Given the description of an element on the screen output the (x, y) to click on. 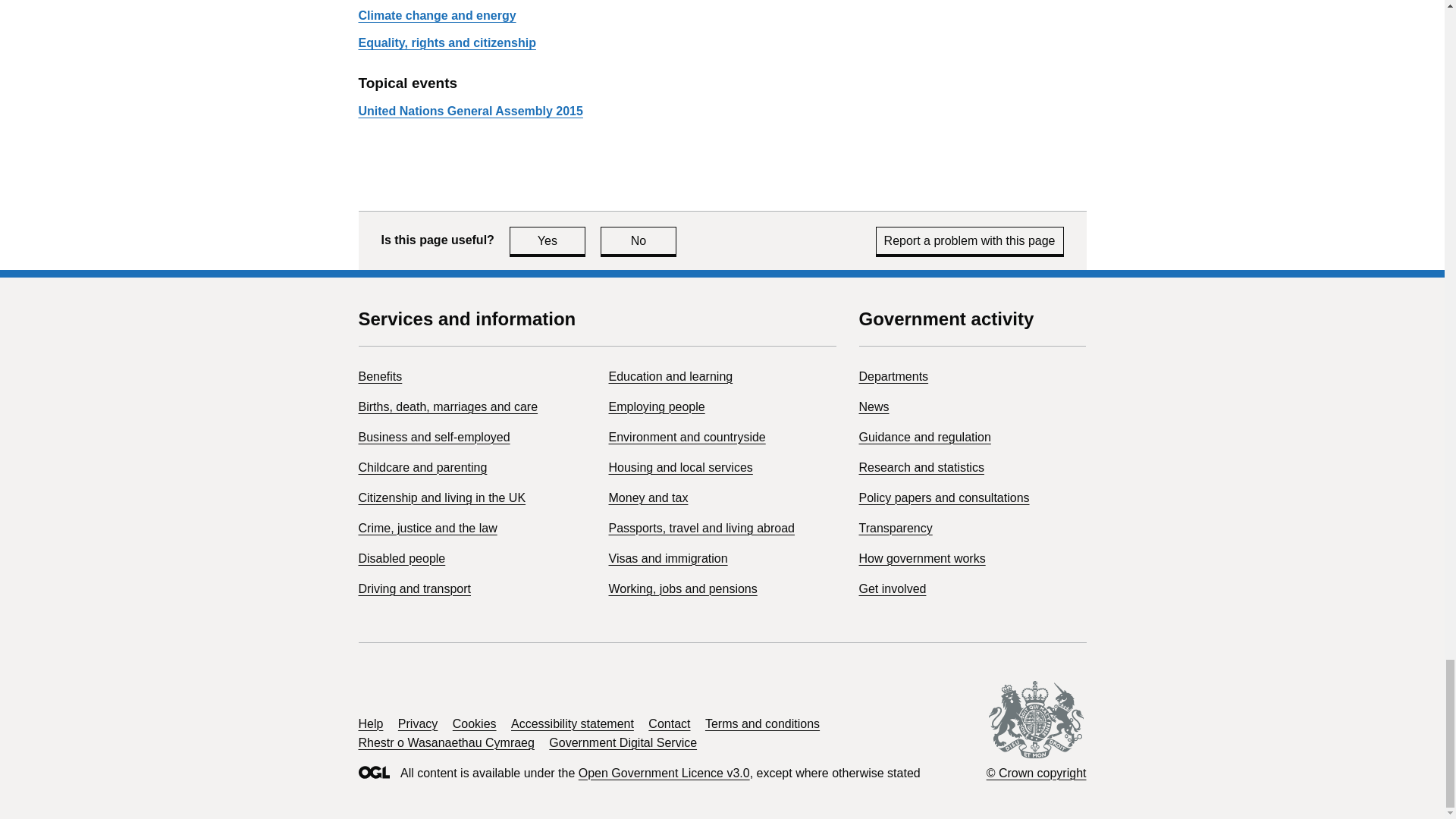
Education and learning (638, 240)
Benefits (670, 376)
Equality, rights and citizenship (379, 376)
Housing and local services (446, 42)
Business and self-employed (680, 467)
Employing people (433, 436)
Citizenship and living in the UK (656, 406)
Disabled people (441, 497)
Environment and countryside (401, 558)
Visas and immigration (686, 436)
Working, jobs and pensions (667, 558)
United Nations General Assembly 2015 (682, 588)
Money and tax (470, 110)
Passports, travel and living abroad (647, 497)
